Given the description of an element on the screen output the (x, y) to click on. 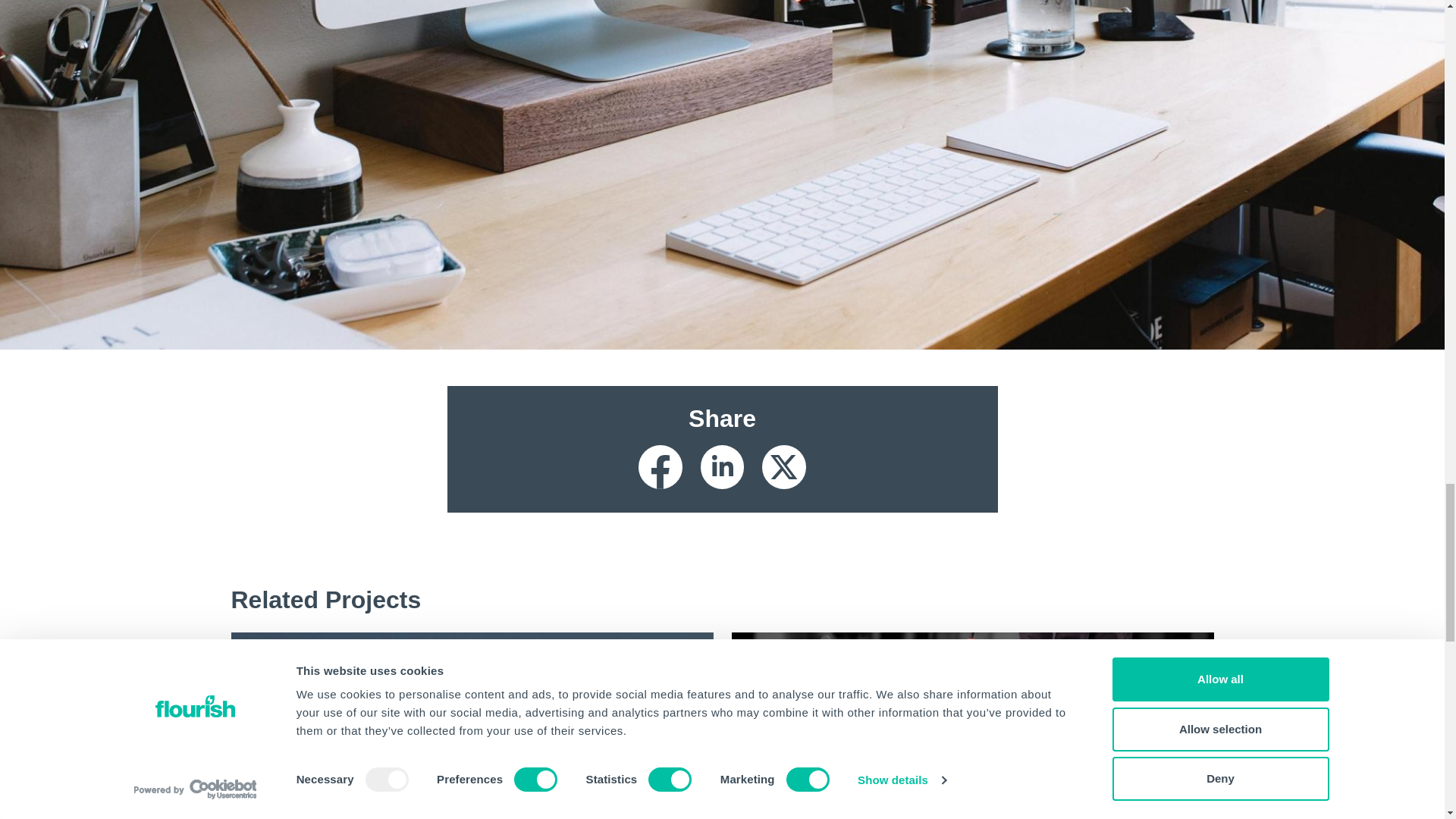
Facebook (660, 466)
LinkedIn (722, 466)
Twitter (783, 466)
